Given the description of an element on the screen output the (x, y) to click on. 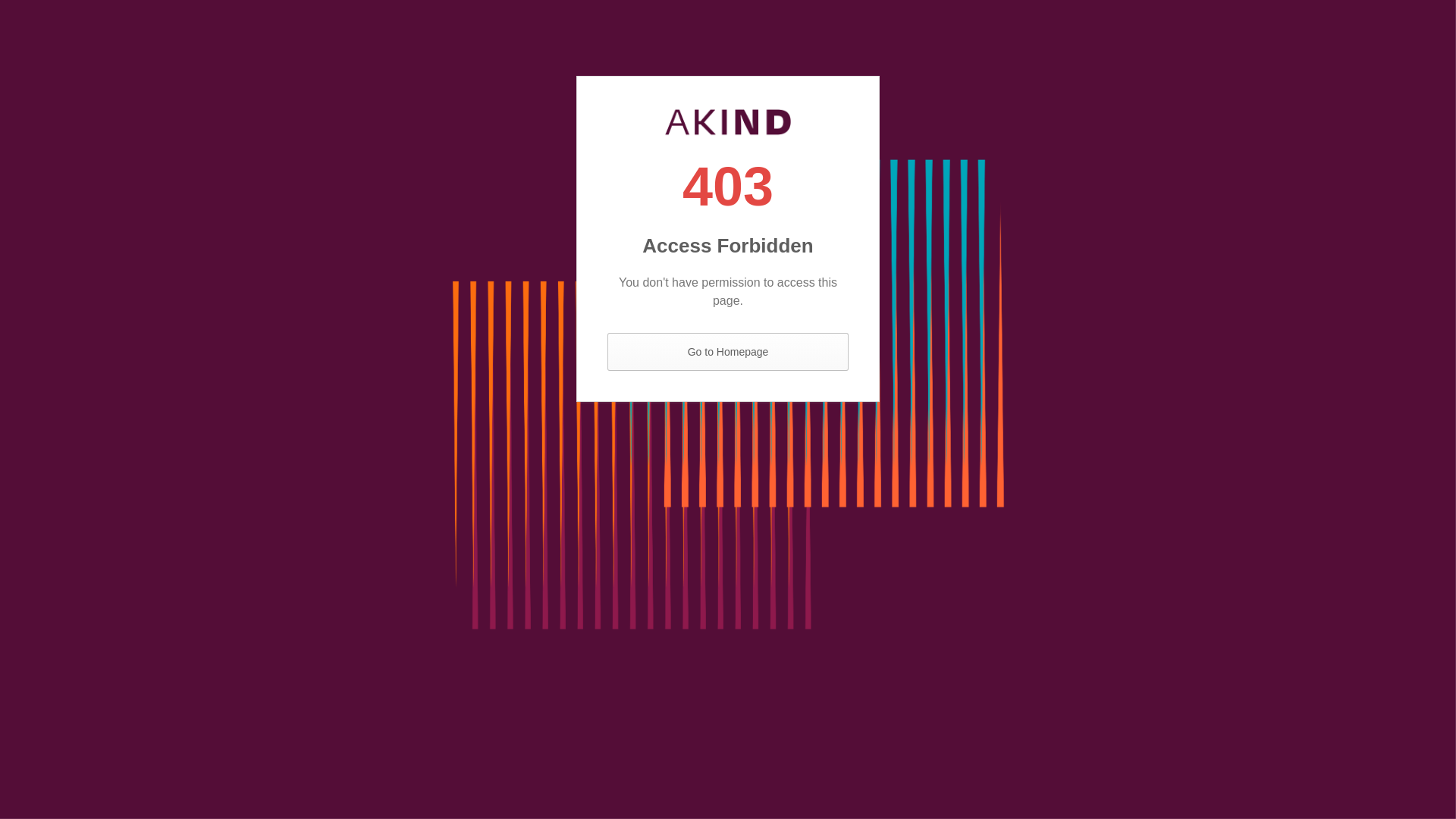
Go to Homepage Element type: text (727, 351)
